Given the description of an element on the screen output the (x, y) to click on. 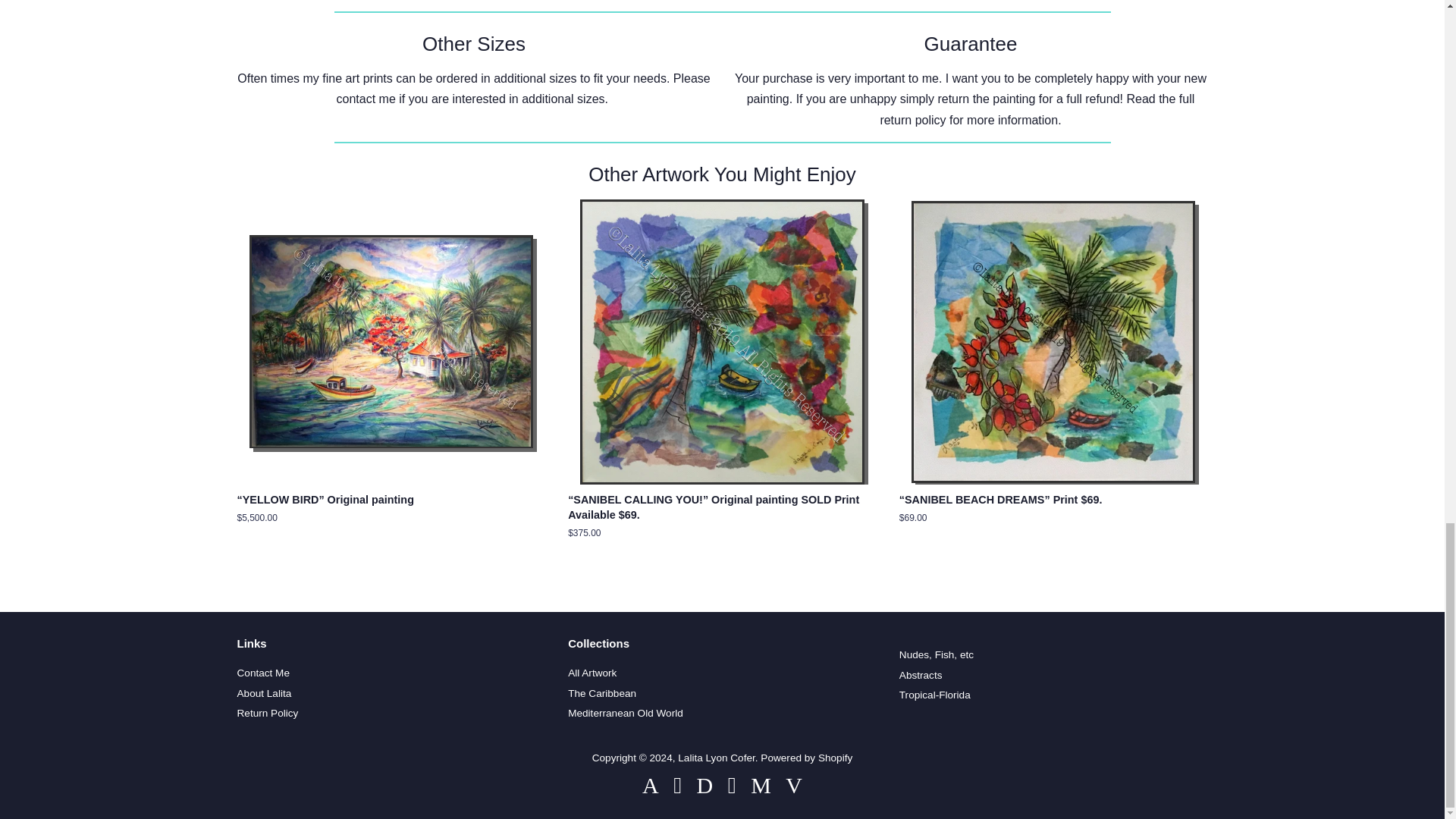
Contact Me (262, 672)
Return Policy (911, 119)
Contact Me (366, 98)
contact me (366, 98)
return policy (911, 119)
